Given the description of an element on the screen output the (x, y) to click on. 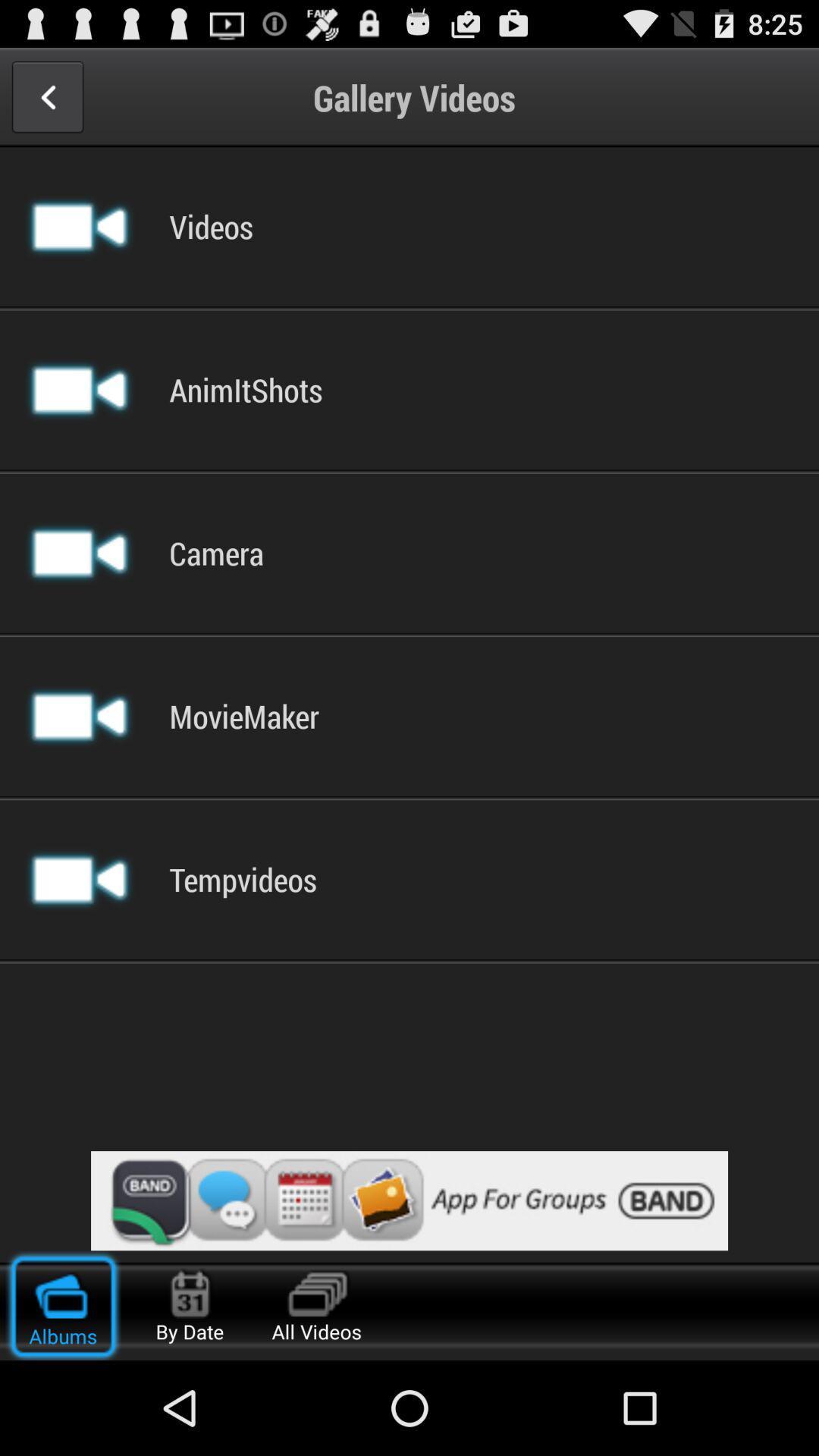
advertisement display (409, 1200)
